Given the description of an element on the screen output the (x, y) to click on. 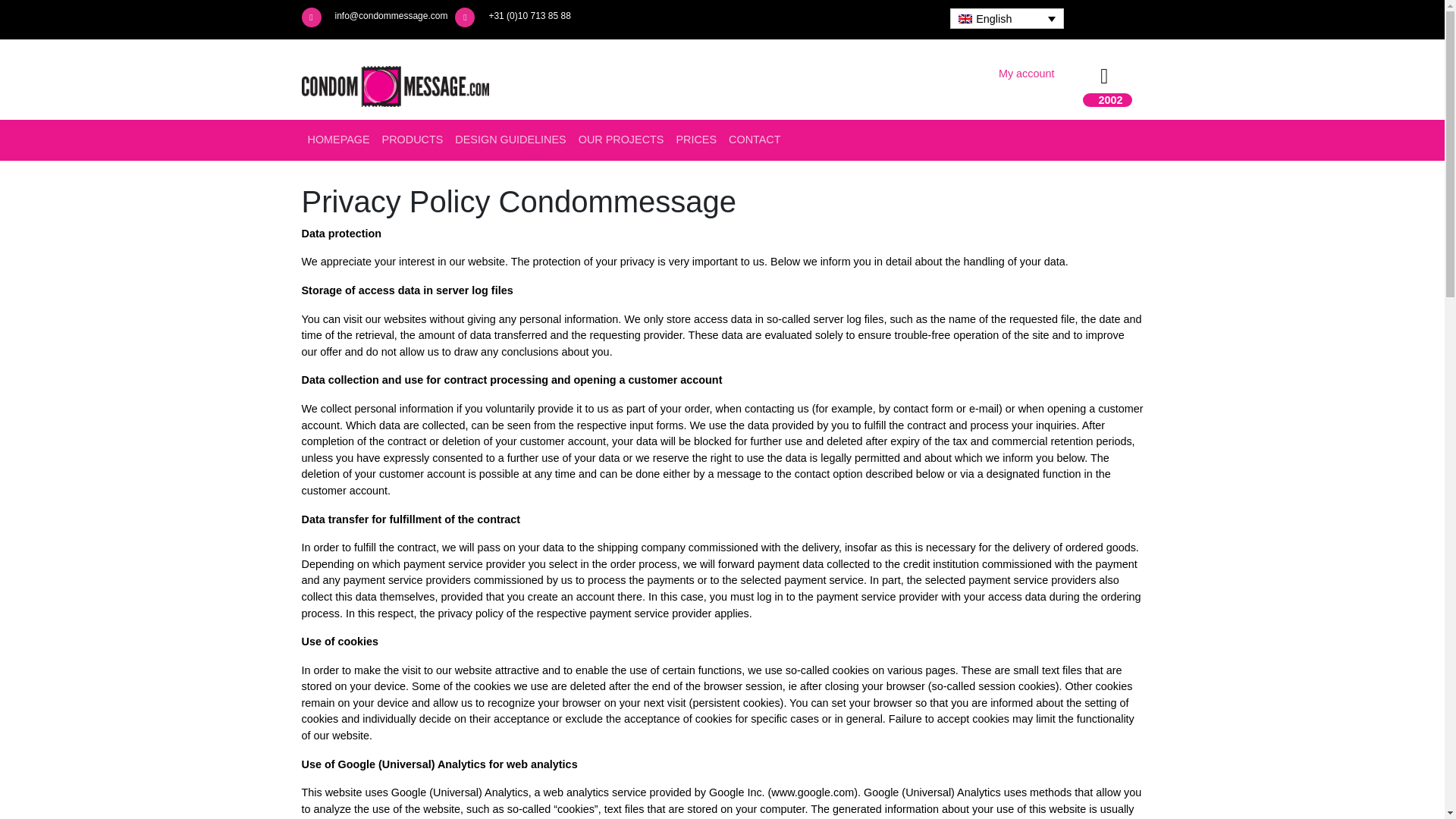
2002 (1109, 100)
English (1005, 18)
DESIGN GUIDELINES (510, 140)
PRODUCTS (412, 140)
OUR PROJECTS (620, 140)
CONTACT (754, 140)
HOMEPAGE (338, 140)
PRICES (695, 140)
